Given the description of an element on the screen output the (x, y) to click on. 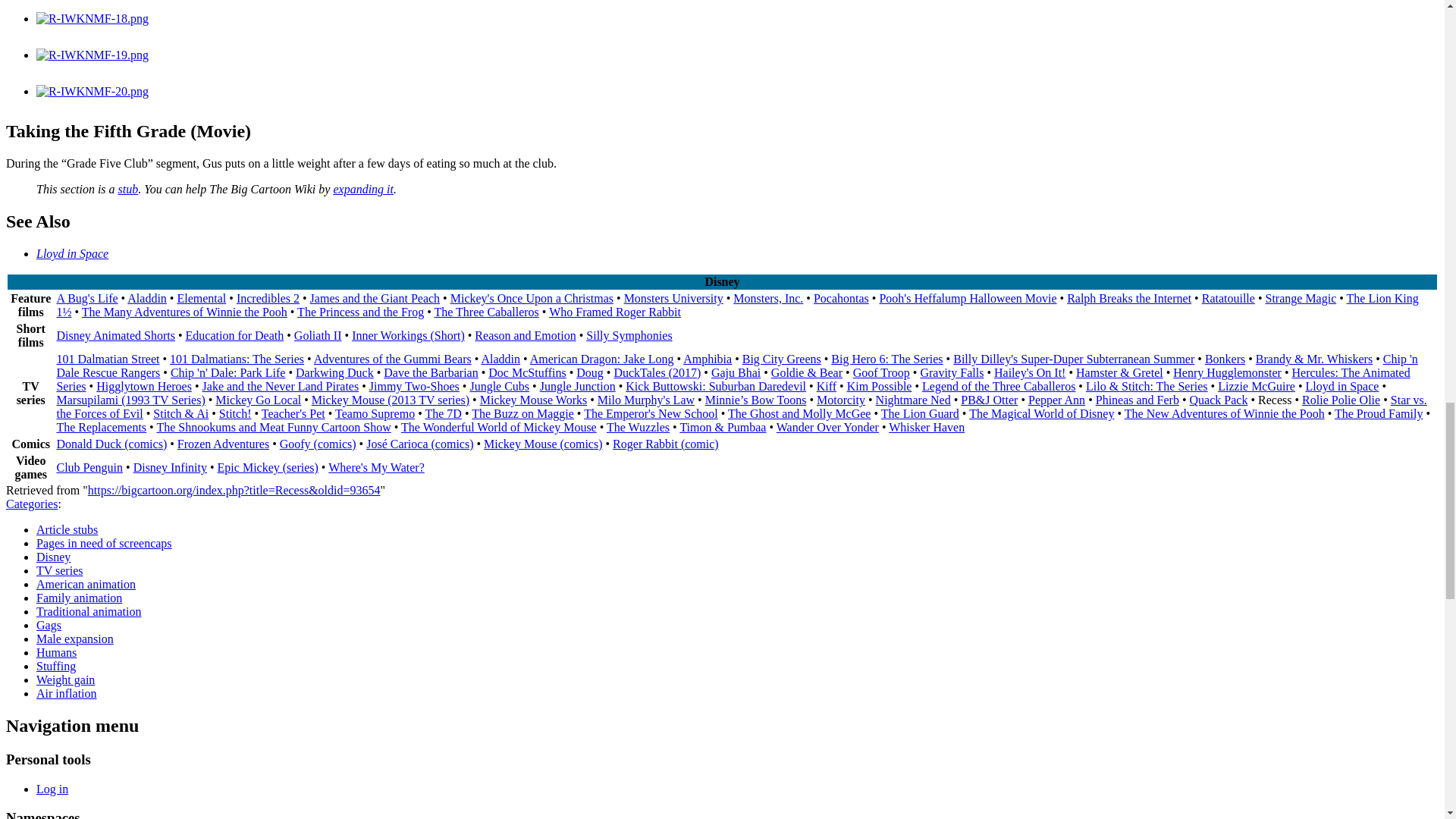
A Bug's Life (86, 297)
Ratatouille (1228, 297)
Pooh's Heffalump Halloween Movie (968, 297)
Monsters University (673, 297)
Category:Article stubs (127, 188)
Pocahontas (841, 297)
Strange Magic (1300, 297)
Lloyd in Space (71, 253)
Elemental (200, 297)
James and the Giant Peach (375, 297)
Incredibles 2 (267, 297)
The Many Adventures of Winnie the Pooh (183, 311)
Aladdin (147, 297)
Ralph Breaks the Internet (1129, 297)
Mickey's Once Upon a Christmas (530, 297)
